Given the description of an element on the screen output the (x, y) to click on. 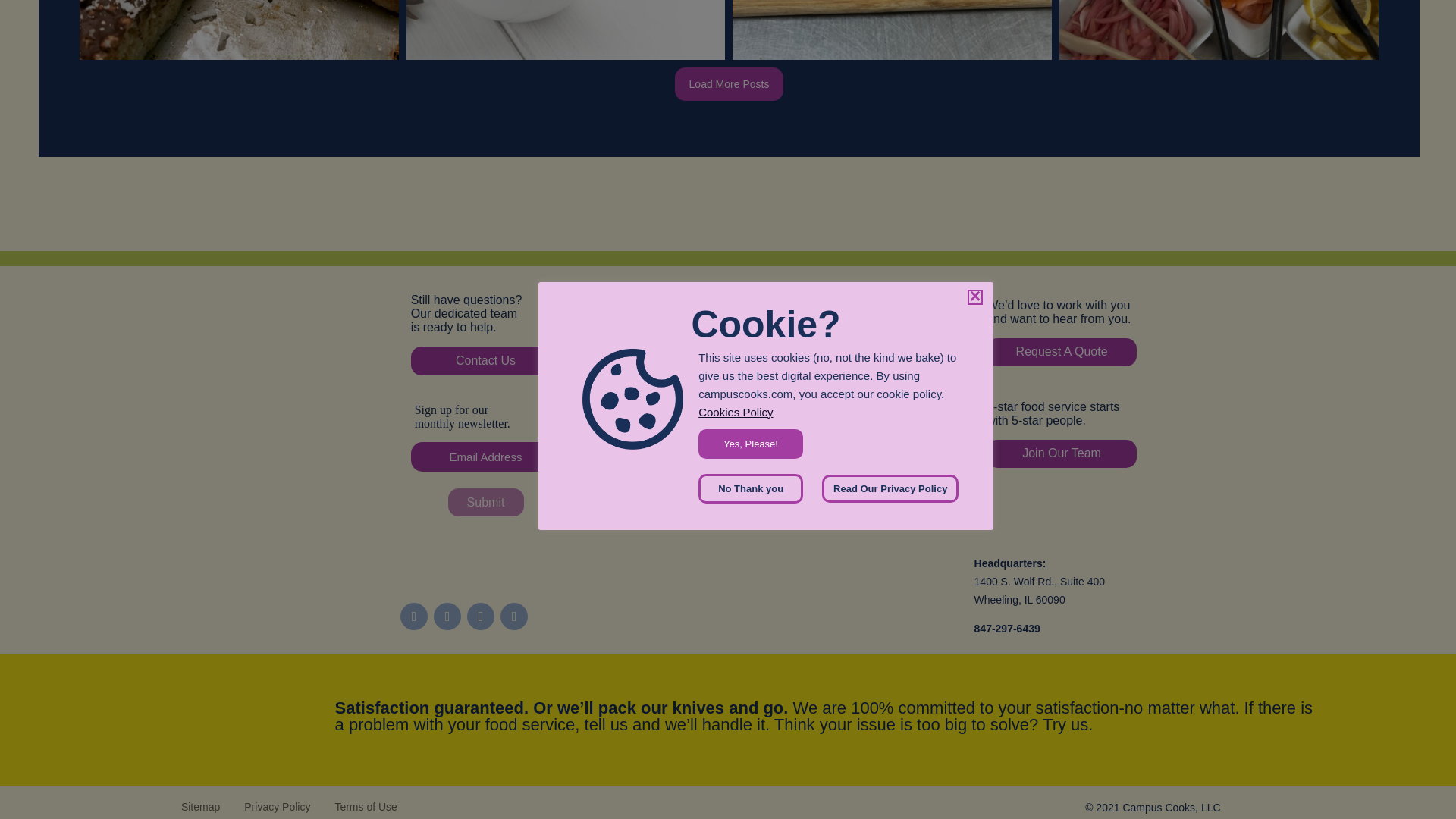
Follow on Facebook (447, 615)
Follow on Instagram (414, 615)
Follow on LinkedIn (513, 615)
Follow on Youtube (481, 615)
